Given the description of an element on the screen output the (x, y) to click on. 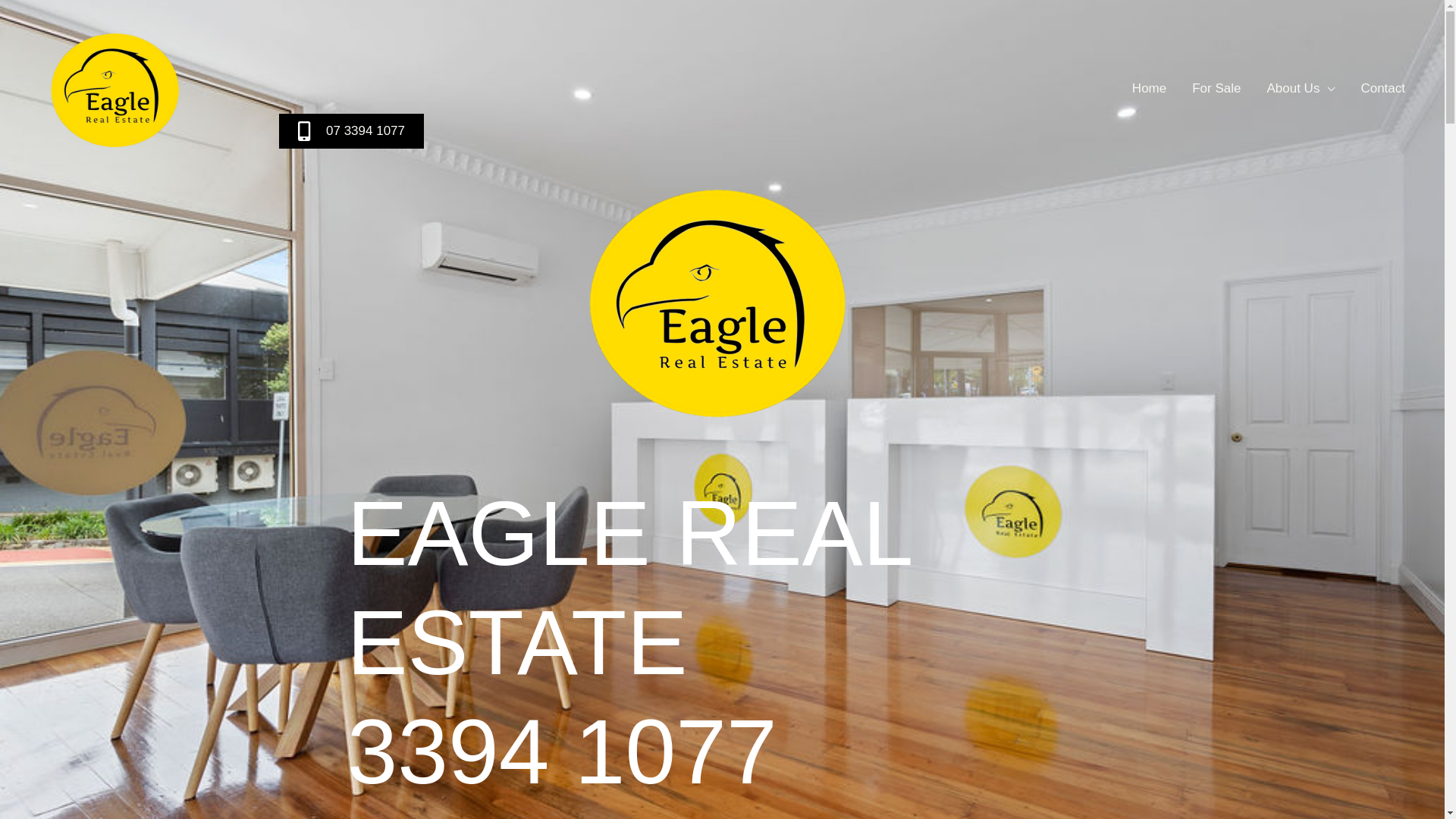
07 3394 1077 Element type: text (350, 131)
About Us Element type: text (1300, 88)
Contact Element type: text (1382, 88)
Home Element type: text (1149, 88)
For Sale Element type: text (1216, 88)
Eagle logo in round format Element type: hover (721, 299)
